Given the description of an element on the screen output the (x, y) to click on. 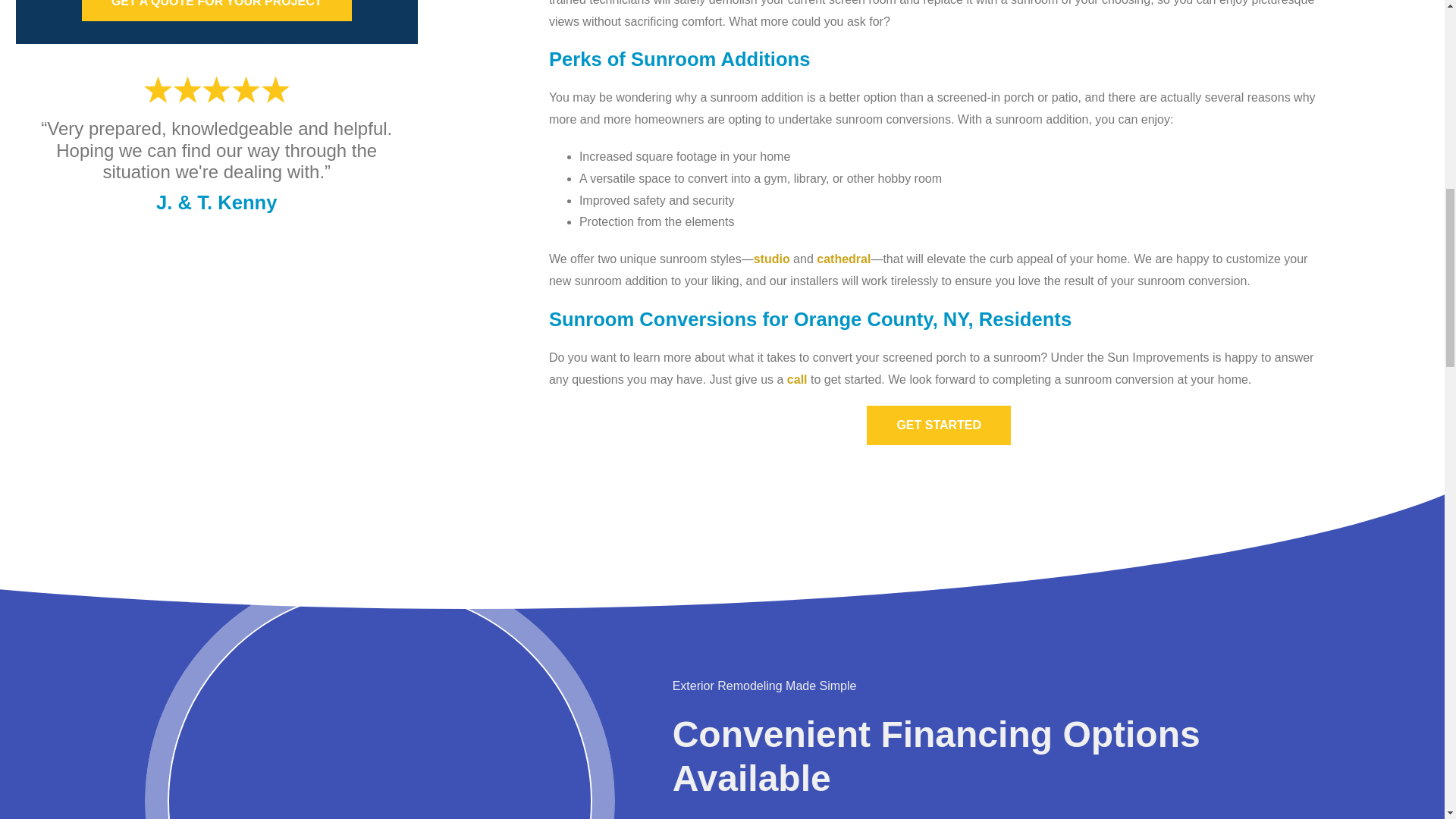
cathedral (843, 258)
GET STARTED (938, 425)
call (797, 379)
studio (772, 258)
